Given the description of an element on the screen output the (x, y) to click on. 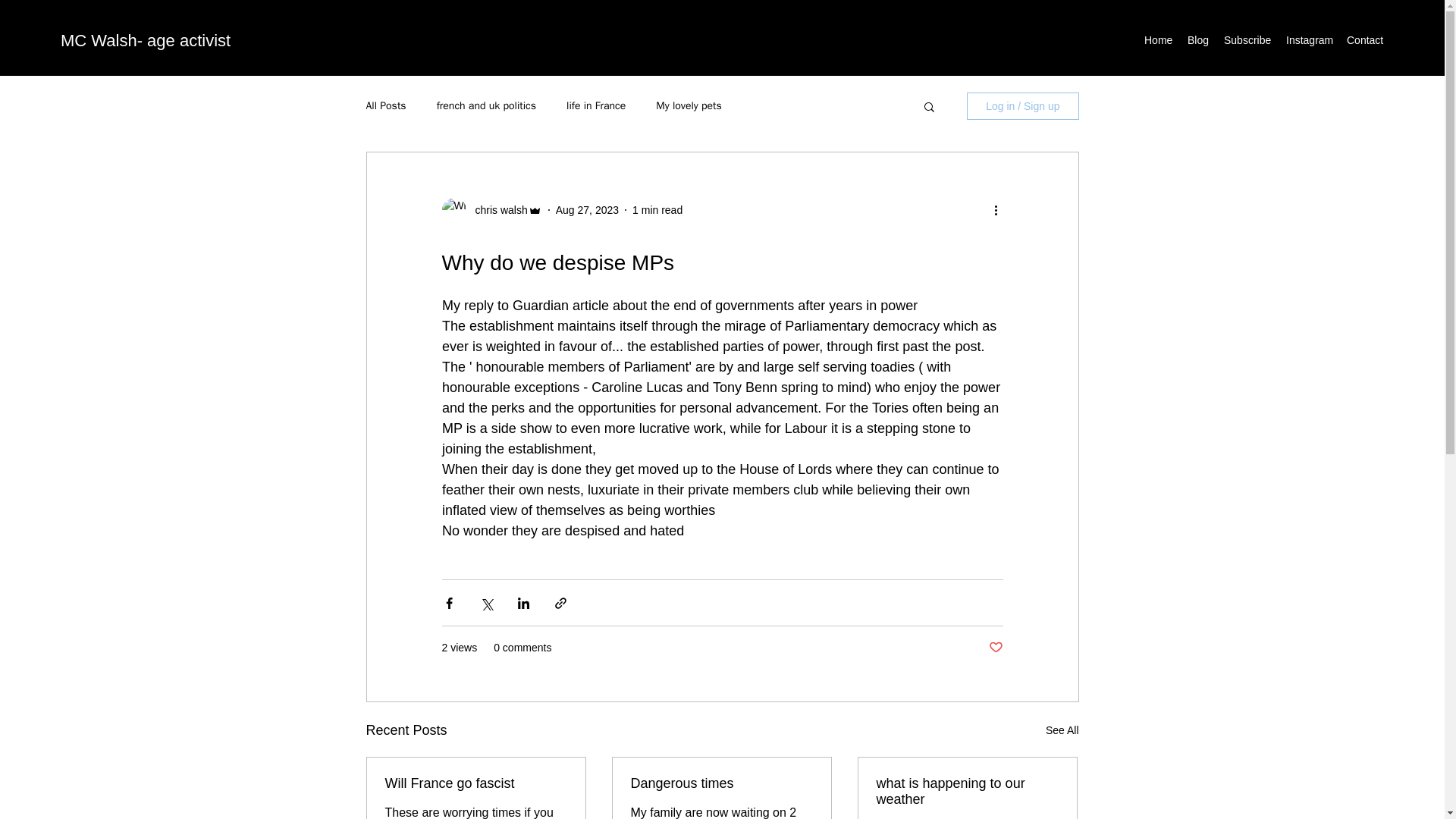
All Posts (385, 106)
Blog (1197, 39)
Home (1158, 39)
Contact (1364, 39)
My lovely pets (688, 106)
Will France go fascist (476, 783)
chris walsh (496, 210)
Dangerous times (721, 783)
Aug 27, 2023 (587, 209)
Instagram (1308, 39)
MC Walsh- age activist (145, 40)
1 min read (656, 209)
french and uk politics (485, 106)
See All (1061, 730)
Post not marked as liked (995, 647)
